Given the description of an element on the screen output the (x, y) to click on. 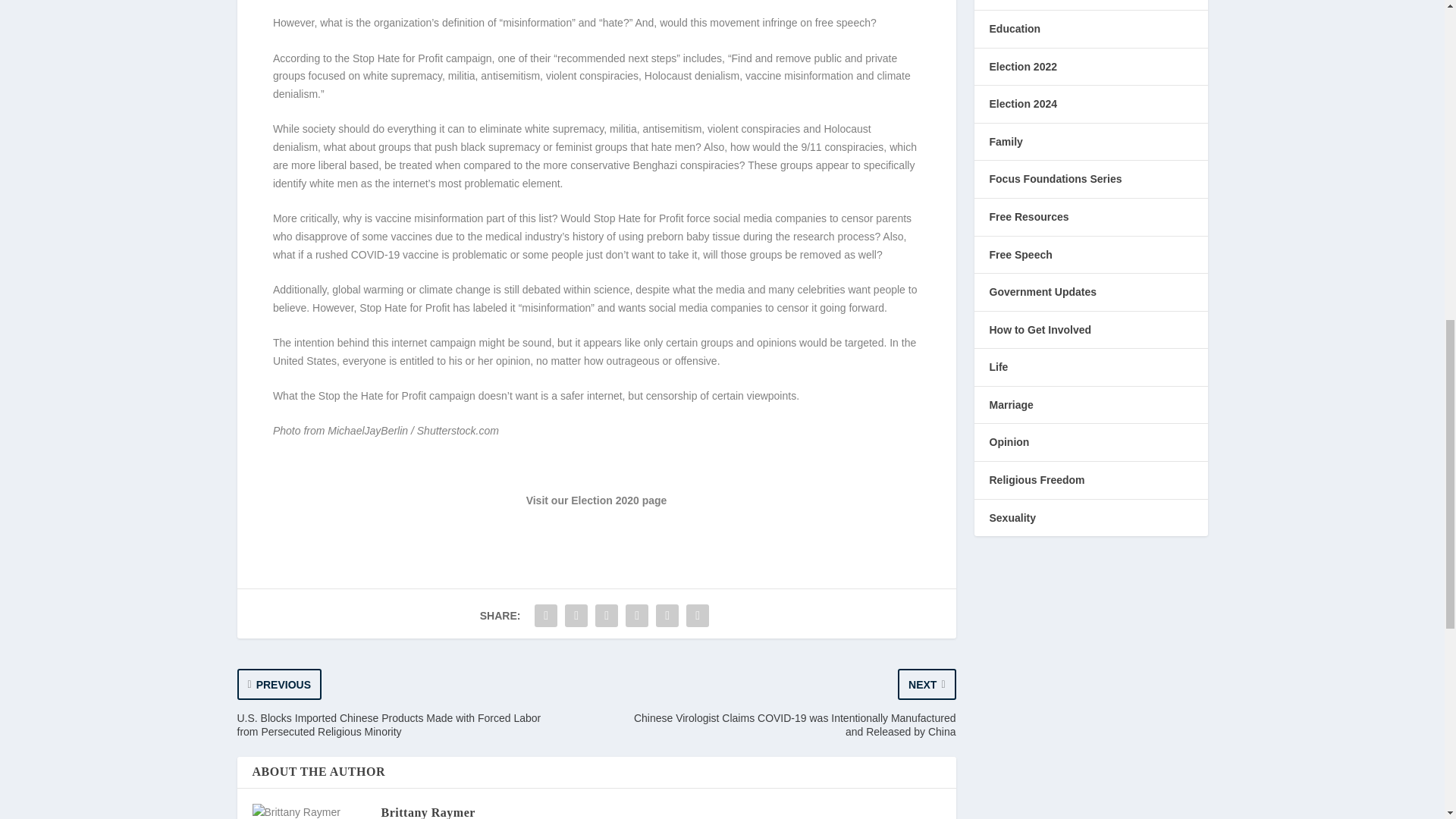
recommended next steps (617, 58)
conspiracies (709, 164)
Election 2020 (604, 500)
debated (541, 289)
View all posts by Brittany Raymer (427, 812)
preborn baby tissue (692, 236)
